Given the description of an element on the screen output the (x, y) to click on. 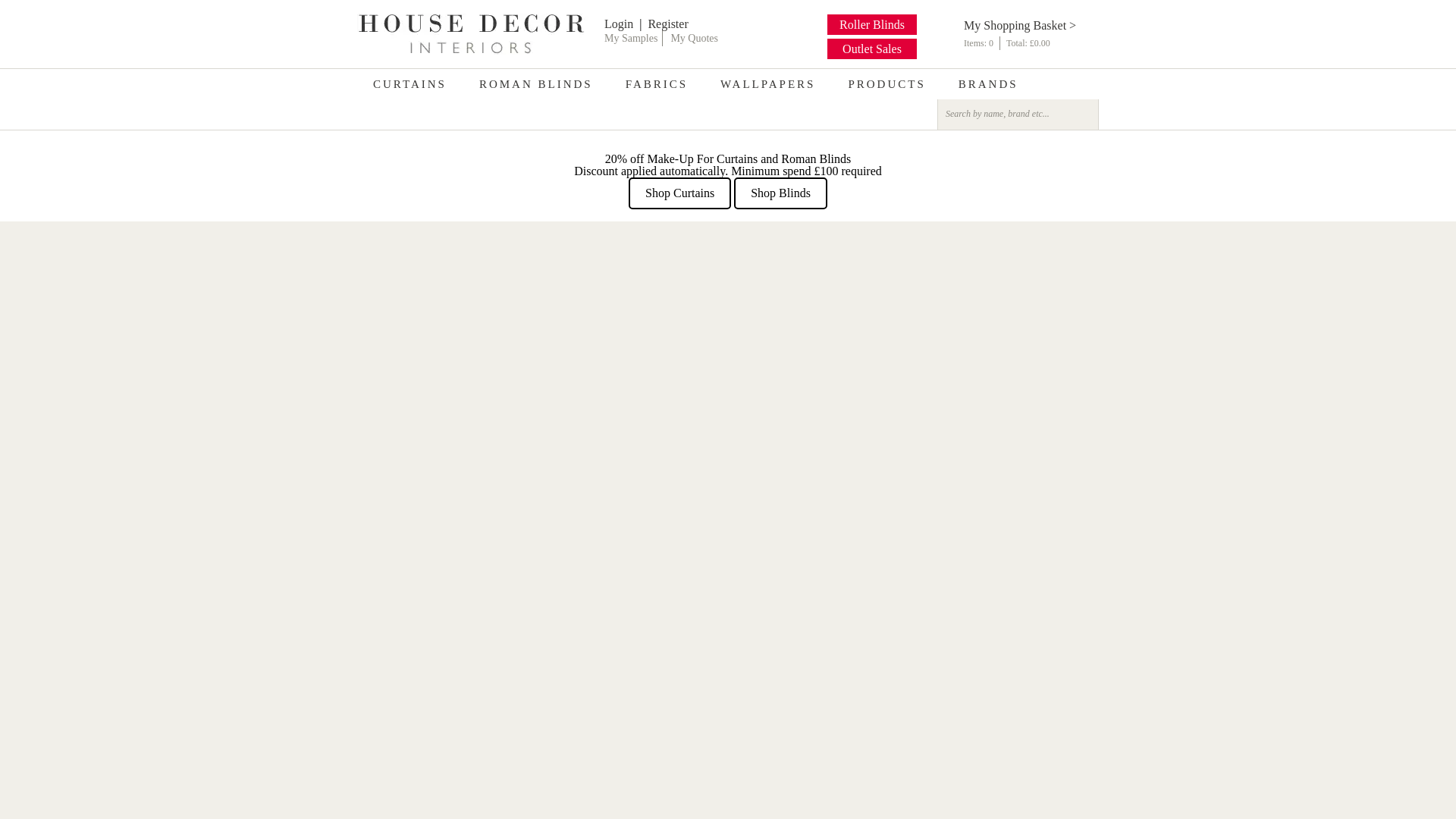
FABRICS (656, 83)
PRODUCTS (885, 83)
Roller Blinds (872, 24)
Search by name, brand etc... (1005, 113)
WALLPAPERS (767, 83)
Outlet Sales (872, 48)
Login (618, 23)
BRANDS (987, 83)
Register (667, 23)
Search (1084, 114)
